Given the description of an element on the screen output the (x, y) to click on. 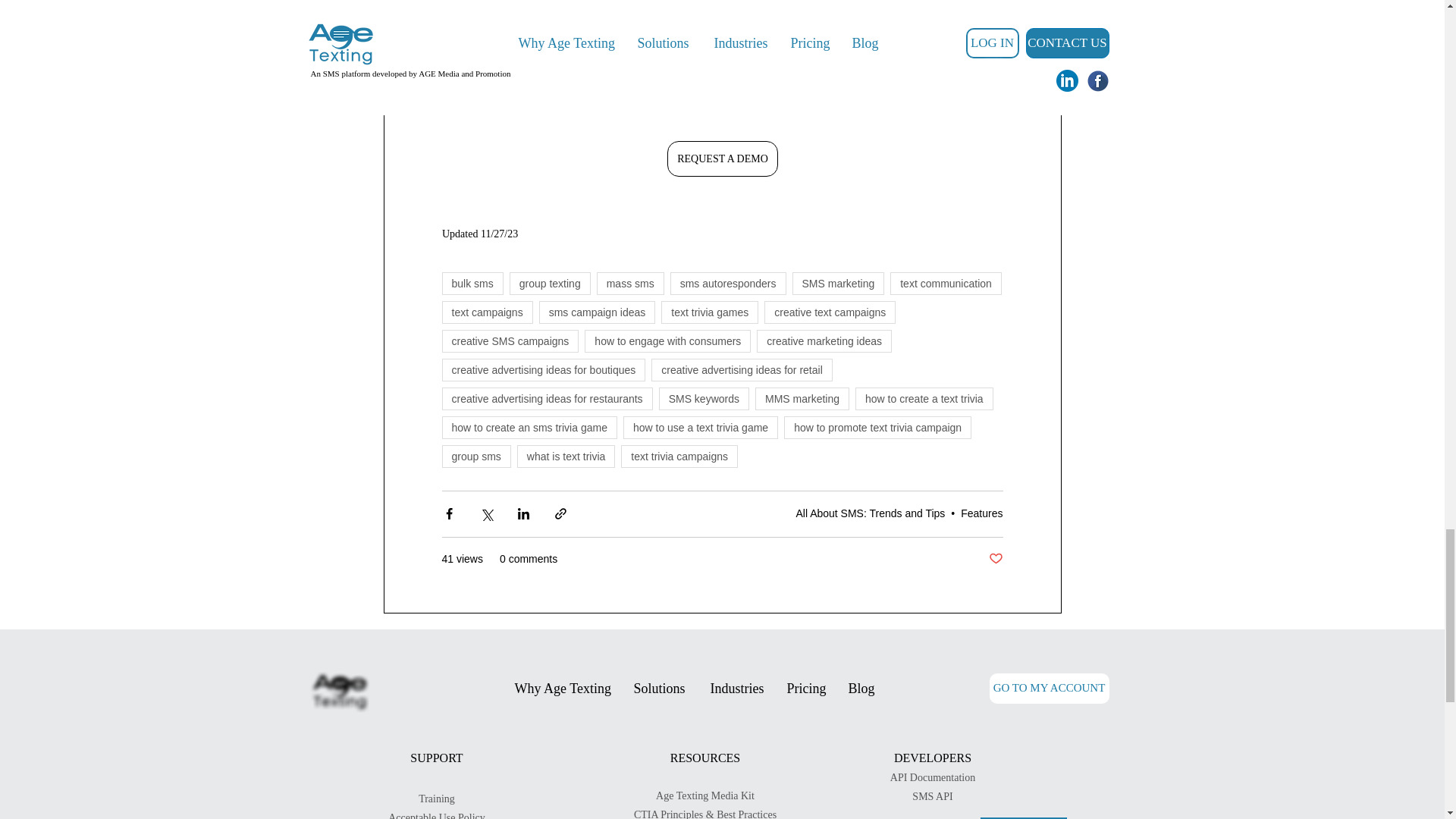
bulk sms (471, 282)
group texting (550, 282)
tooltip (960, 43)
REQUEST A DEMO (721, 158)
